Given the description of an element on the screen output the (x, y) to click on. 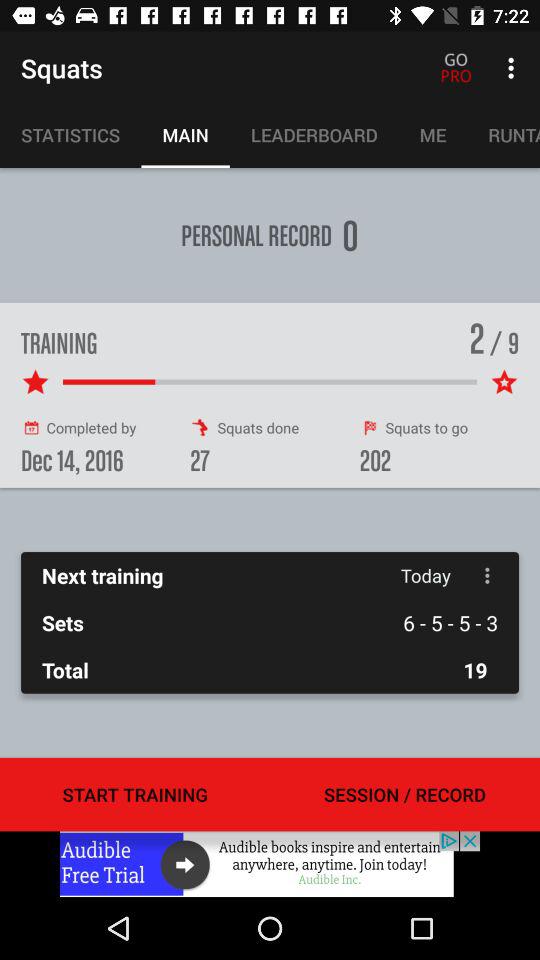
more options (487, 575)
